Given the description of an element on the screen output the (x, y) to click on. 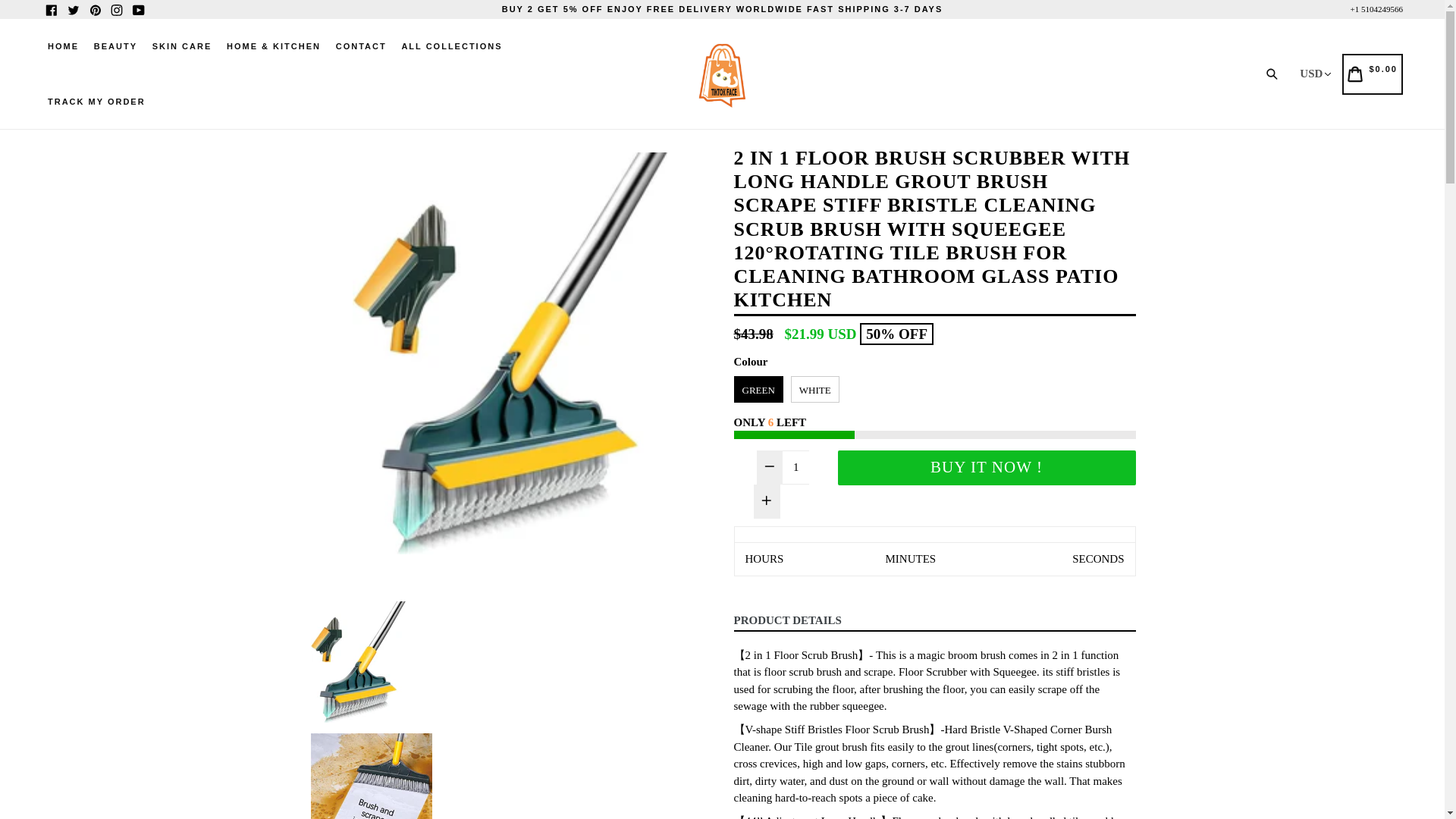
Pinterest (94, 9)
Facebook (51, 9)
Twitter (73, 9)
TIKTOK FACE on Instagram (116, 9)
CONTACT (361, 46)
BEAUTY (114, 46)
ALL COLLECTIONS (451, 46)
1 (796, 467)
SKIN CARE (182, 46)
TIKTOK FACE on YouTube (138, 9)
TIKTOK FACE on Facebook (51, 9)
Instagram (116, 9)
HOME (63, 46)
Search (1275, 73)
TIKTOK FACE on Twitter (73, 9)
